Given the description of an element on the screen output the (x, y) to click on. 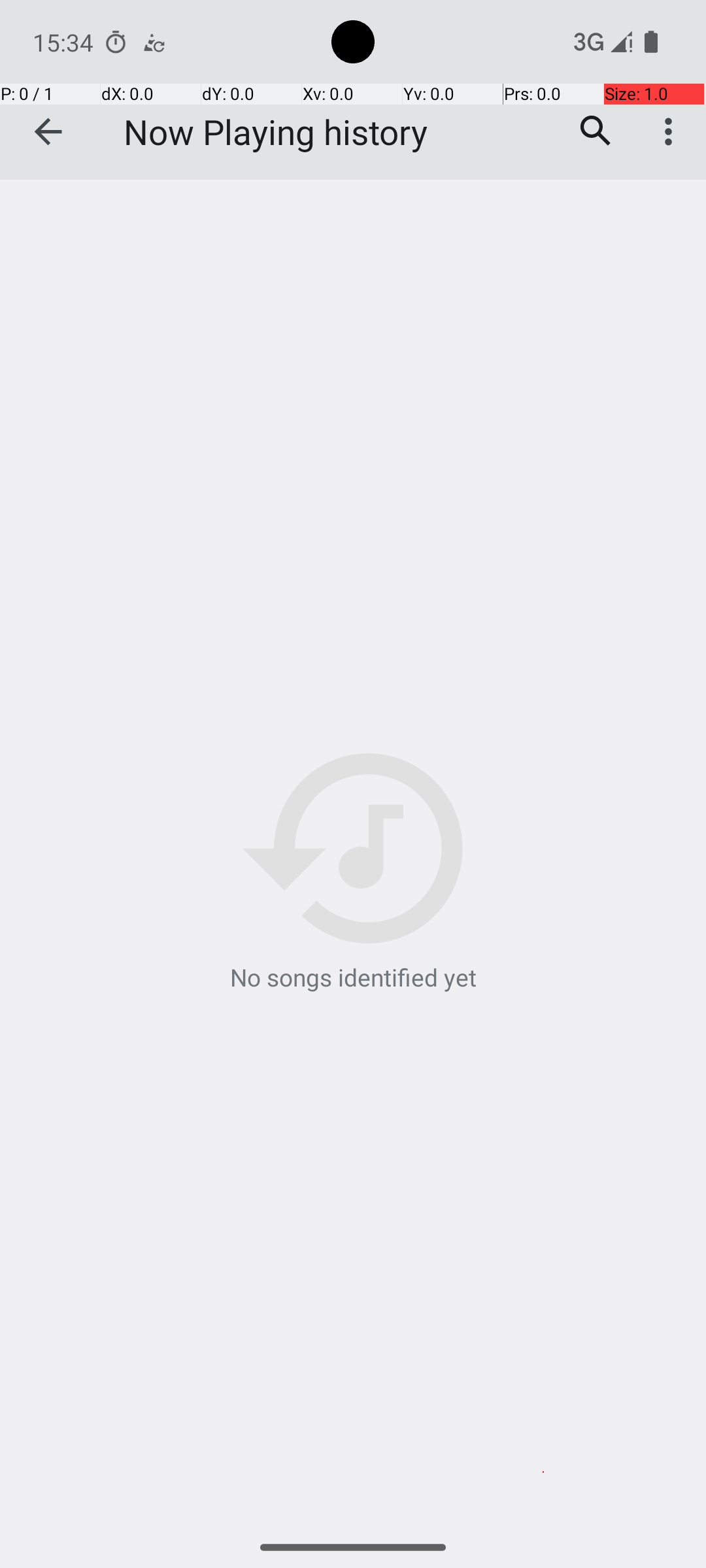
Now Playing history Element type: android.widget.TextView (275, 131)
No songs identified yet Element type: android.widget.TextView (353, 873)
